Given the description of an element on the screen output the (x, y) to click on. 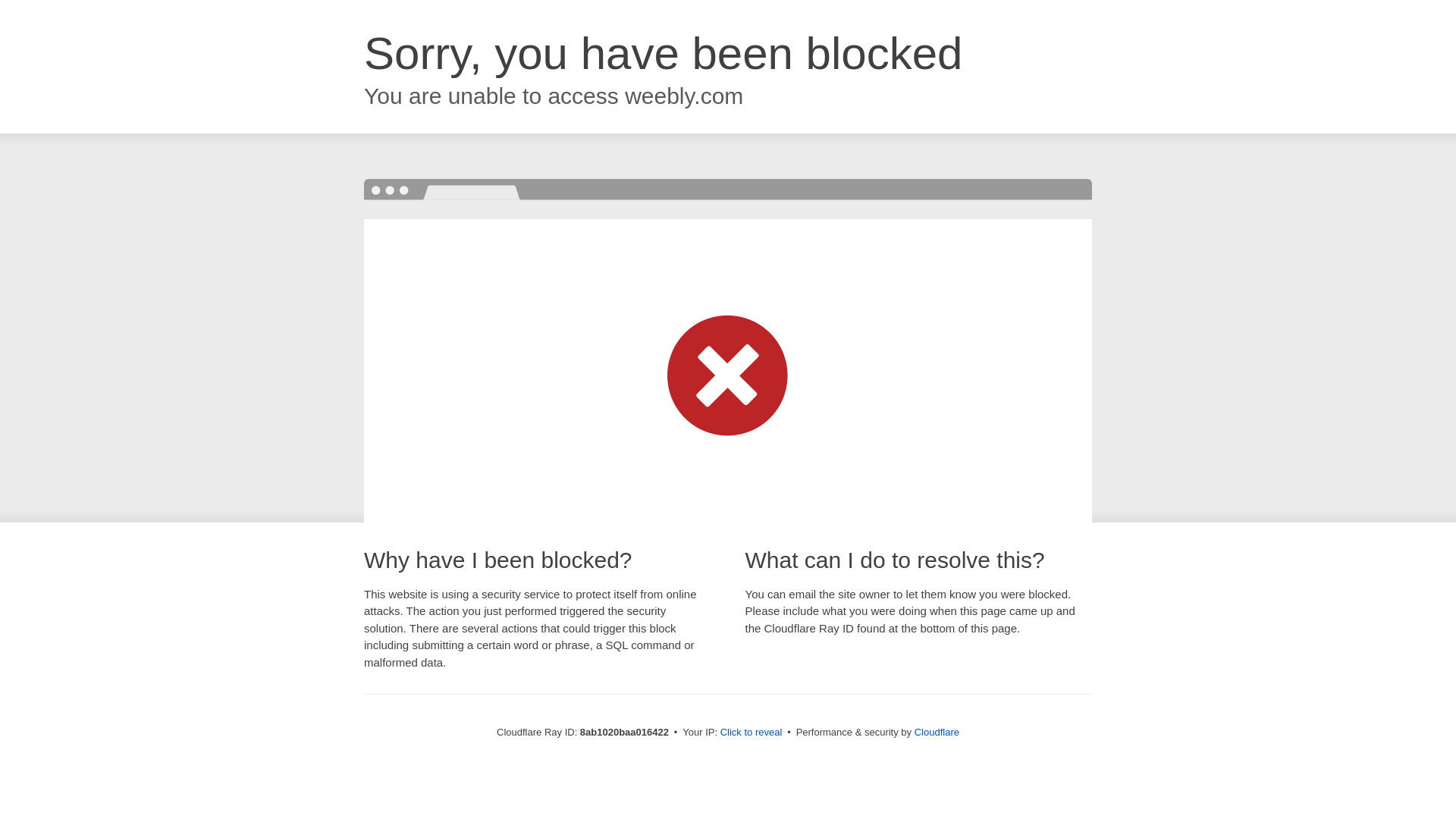
Click to reveal (751, 732)
Cloudflare (936, 731)
